Given the description of an element on the screen output the (x, y) to click on. 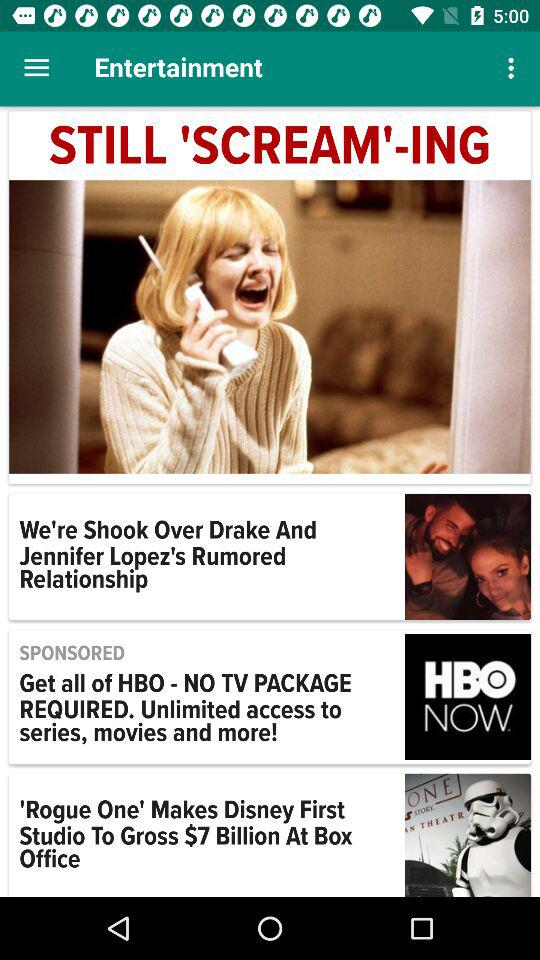
press the item to the right of entertainment (513, 67)
